Given the description of an element on the screen output the (x, y) to click on. 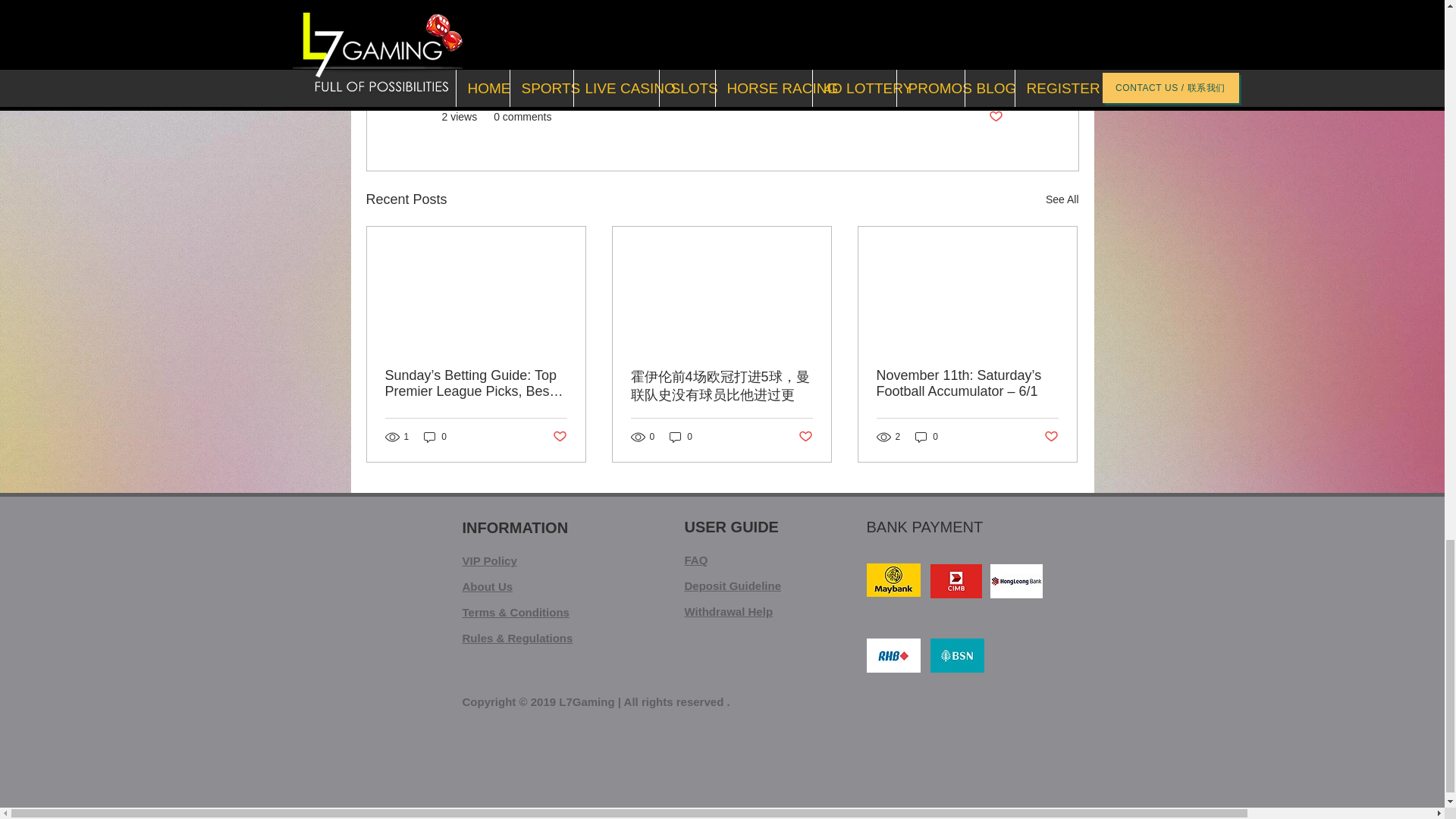
0 (681, 436)
Post not marked as liked (558, 437)
0 (926, 436)
Post not marked as liked (804, 437)
About Us (488, 585)
bank-bsn.jpg (957, 655)
0 (435, 436)
bank-maybank.jpg (893, 580)
Soccer News (971, 71)
Post not marked as liked (1050, 437)
bank-cimb-1.jpg (955, 581)
VIP Policy (489, 560)
bank-hongleong.jpg (1016, 581)
bank-rhb.jpg (893, 655)
See All (1061, 199)
